Given the description of an element on the screen output the (x, y) to click on. 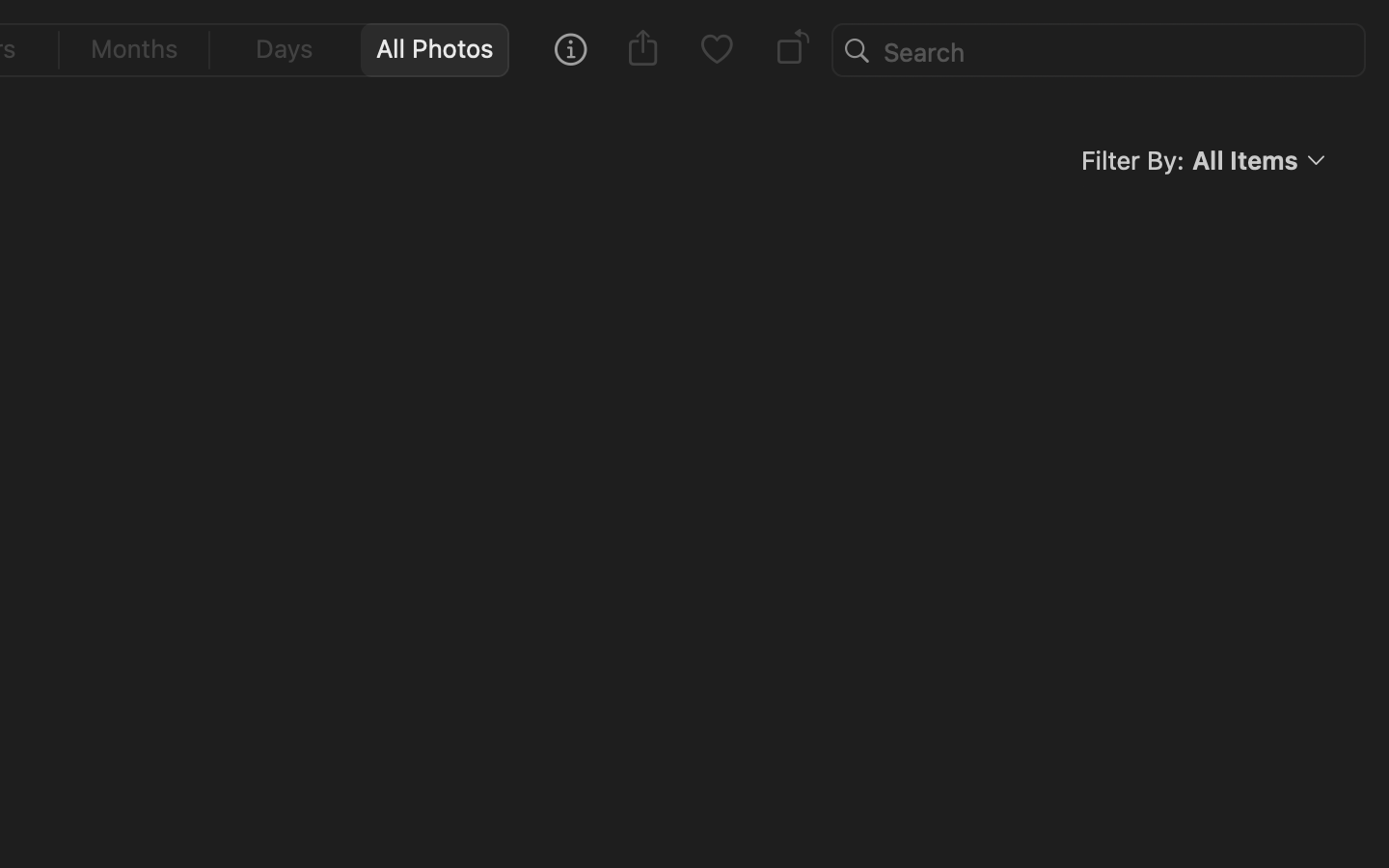
0 Element type: AXCheckBox (716, 50)
0 Element type: AXRadioButton (134, 49)
1 Element type: AXRadioButton (440, 49)
